Given the description of an element on the screen output the (x, y) to click on. 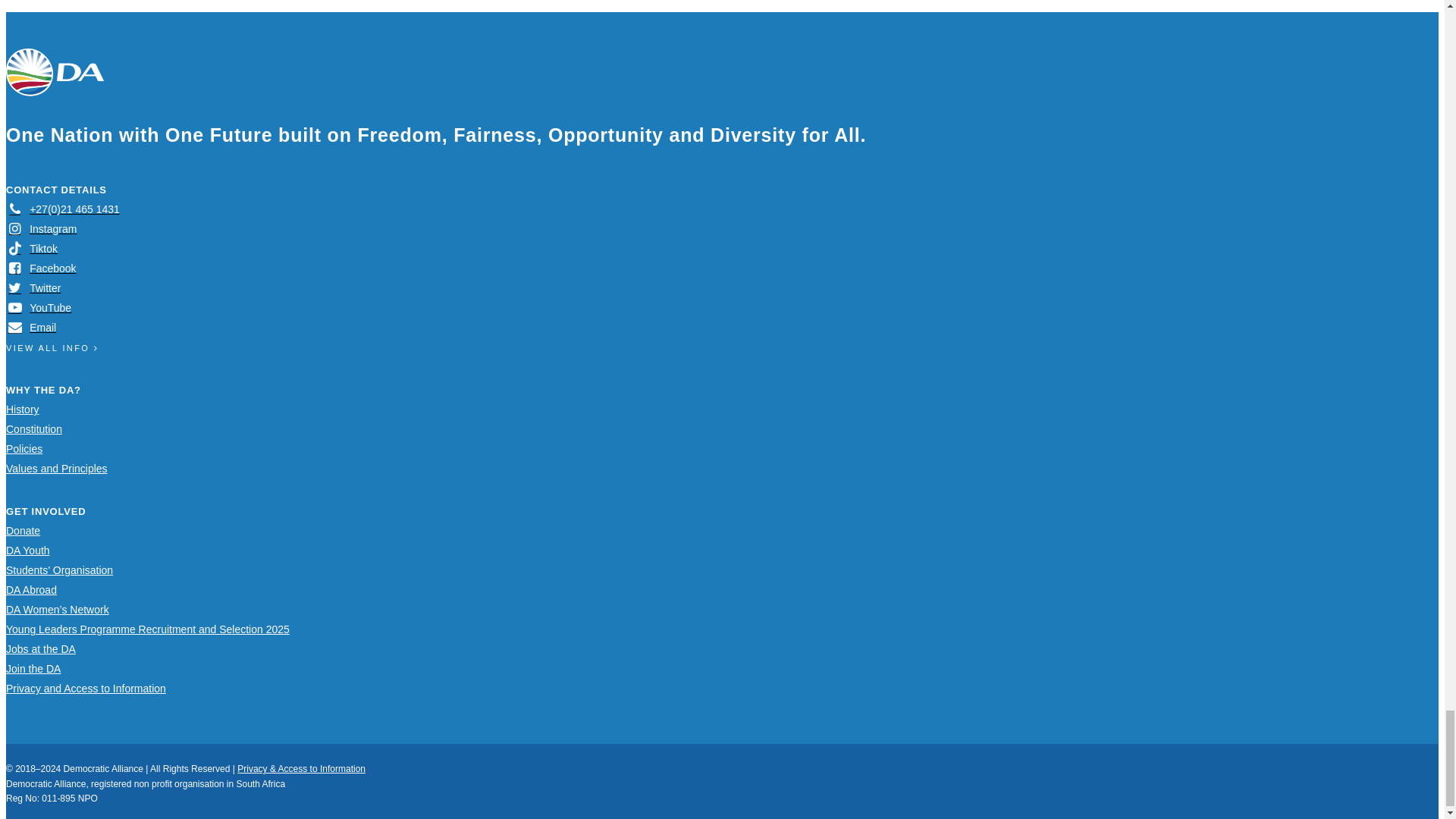
Democratic Alliance Logo (54, 72)
